Given the description of an element on the screen output the (x, y) to click on. 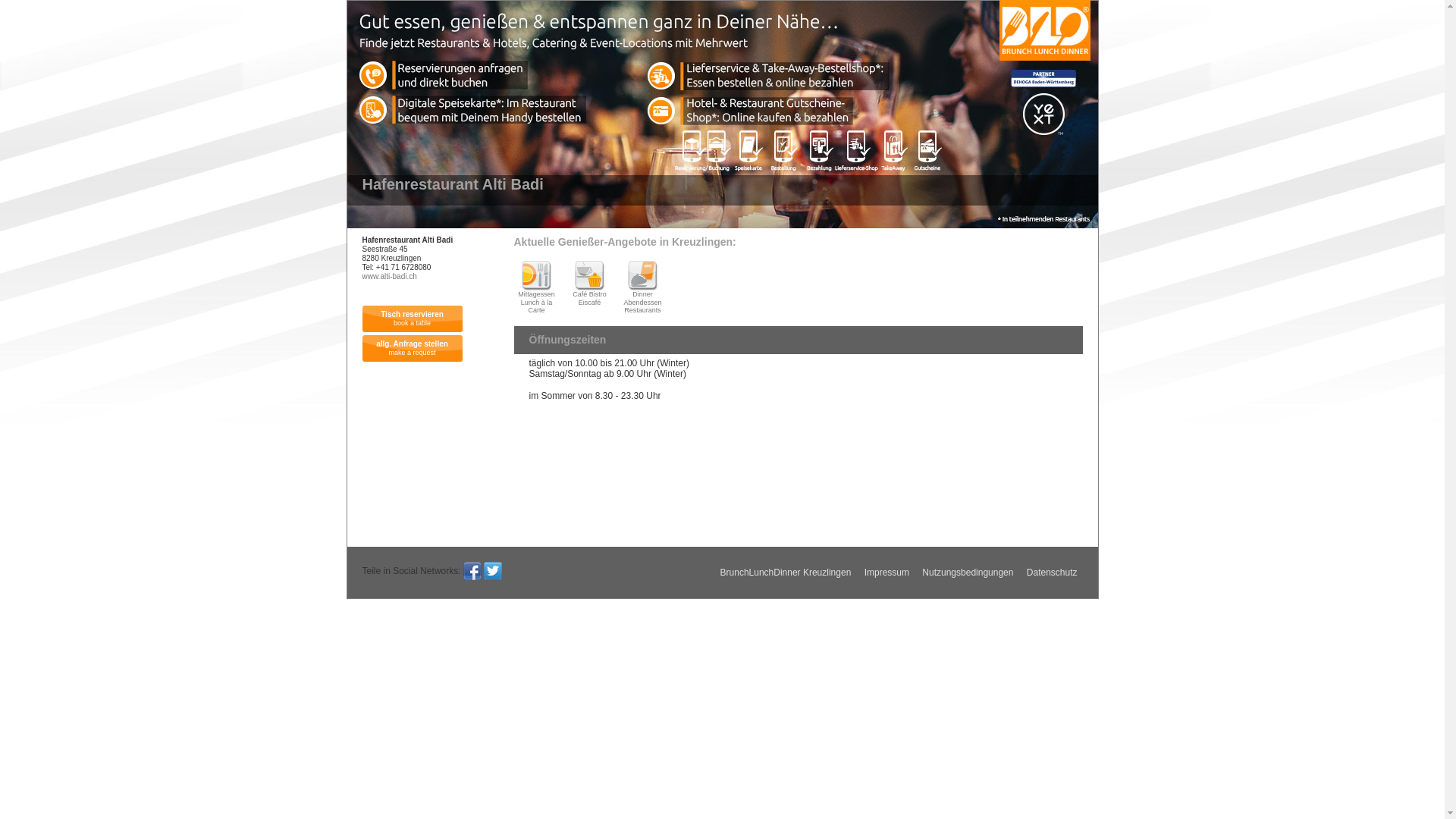
auf Facebook teilen Element type: hover (472, 570)
 Dinner Abendessen Restaurants Element type: text (642, 287)
auf Twitter teilen Element type: hover (492, 570)
Impressum Element type: text (886, 572)
Datenschutz Element type: text (1051, 572)
allg. Anfrage stellen
make a request Element type: text (412, 348)
Nutzungsbedingungen Element type: text (967, 572)
BrunchLunchDinner Kreuzlingen Element type: text (785, 572)
Tisch reservieren
book a table Element type: text (412, 318)
www.alti-badi.ch Element type: text (389, 276)
